Given the description of an element on the screen output the (x, y) to click on. 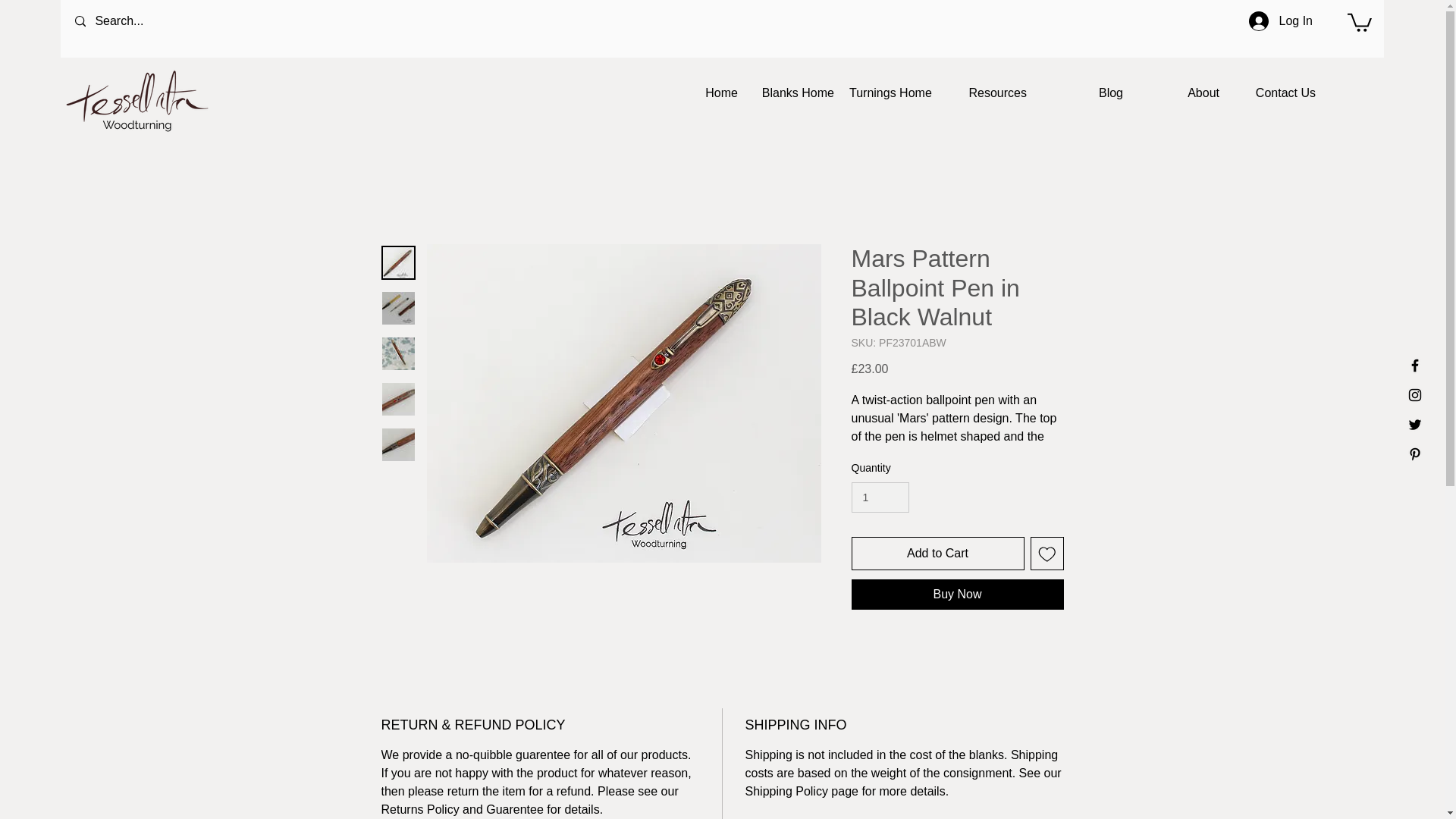
Resources (985, 93)
Log In (1281, 21)
1 (879, 497)
Blog (1082, 93)
Home (697, 93)
Contact Us (1275, 93)
Turnings Home (889, 93)
Blanks Home (793, 93)
About (1179, 93)
